Given the description of an element on the screen output the (x, y) to click on. 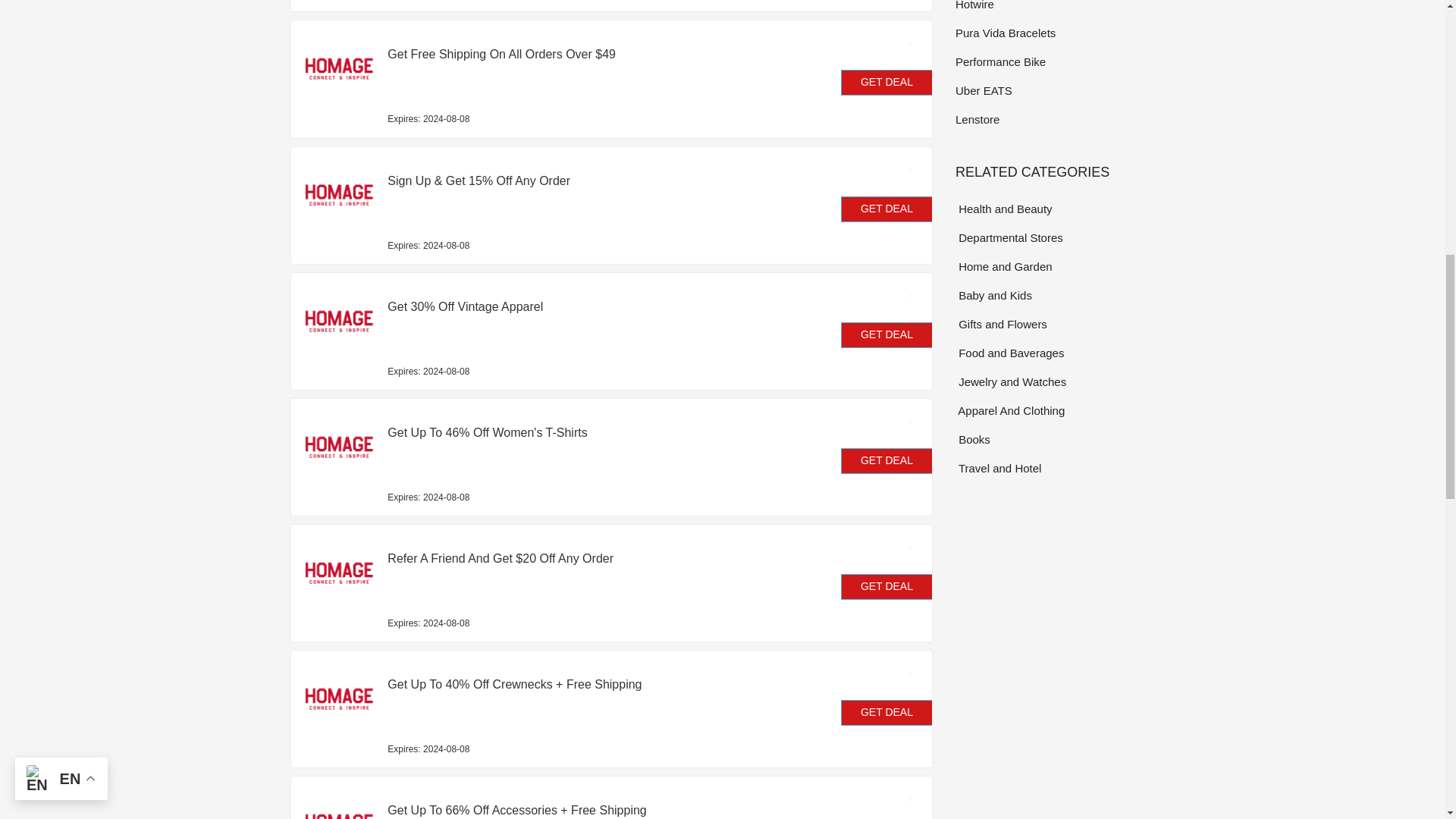
GET DEAL (887, 586)
GET DEAL (887, 712)
GET DEAL (887, 460)
GET DEAL (887, 335)
GET DEAL (887, 208)
GET DEAL (887, 82)
